Given the description of an element on the screen output the (x, y) to click on. 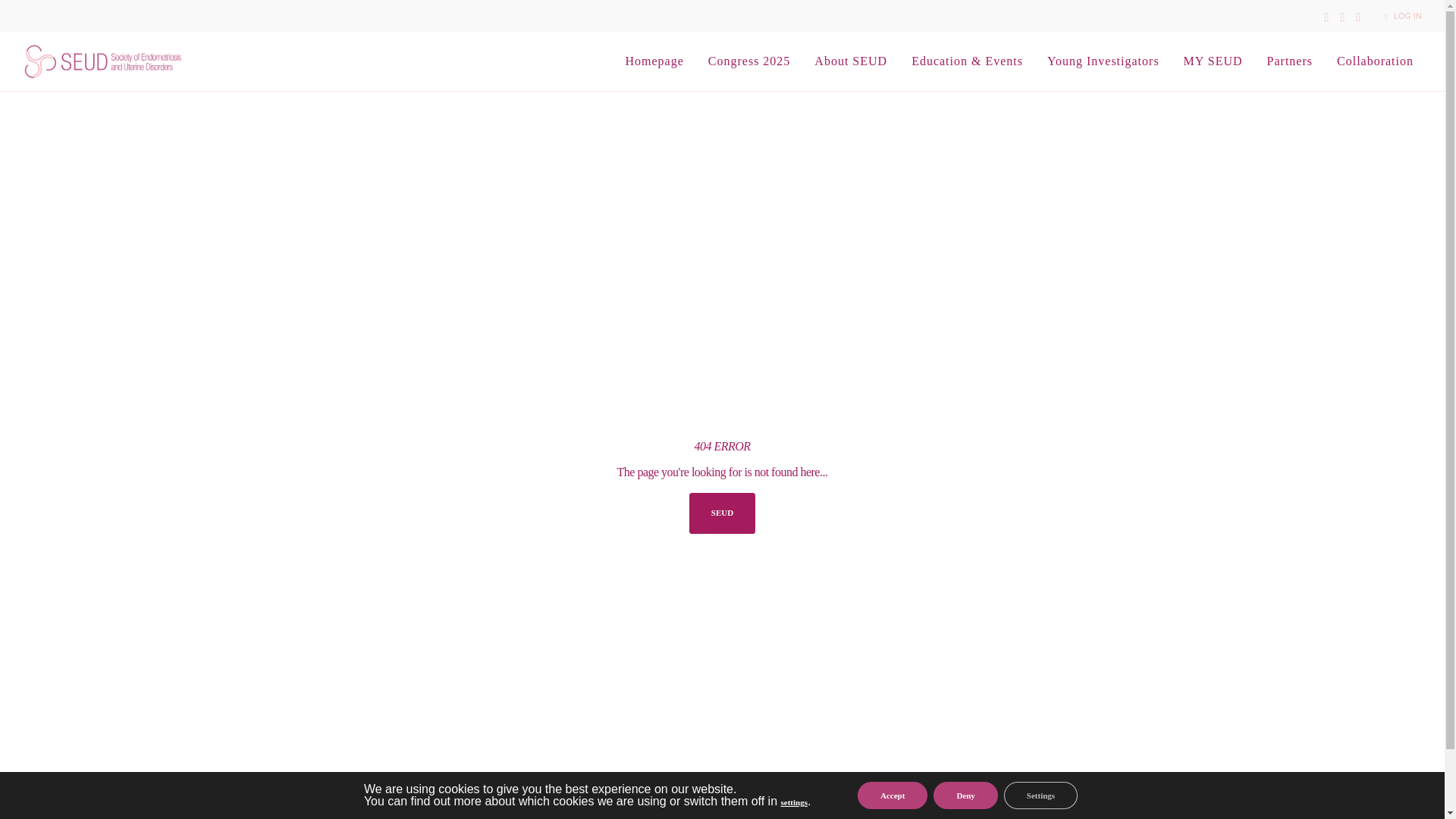
Young Investigators (1103, 61)
Congress 2025 (749, 61)
Homepage (653, 61)
MY SEUD (1213, 61)
About SEUD (850, 61)
Partners (1289, 61)
LOG IN (1401, 16)
